Given the description of an element on the screen output the (x, y) to click on. 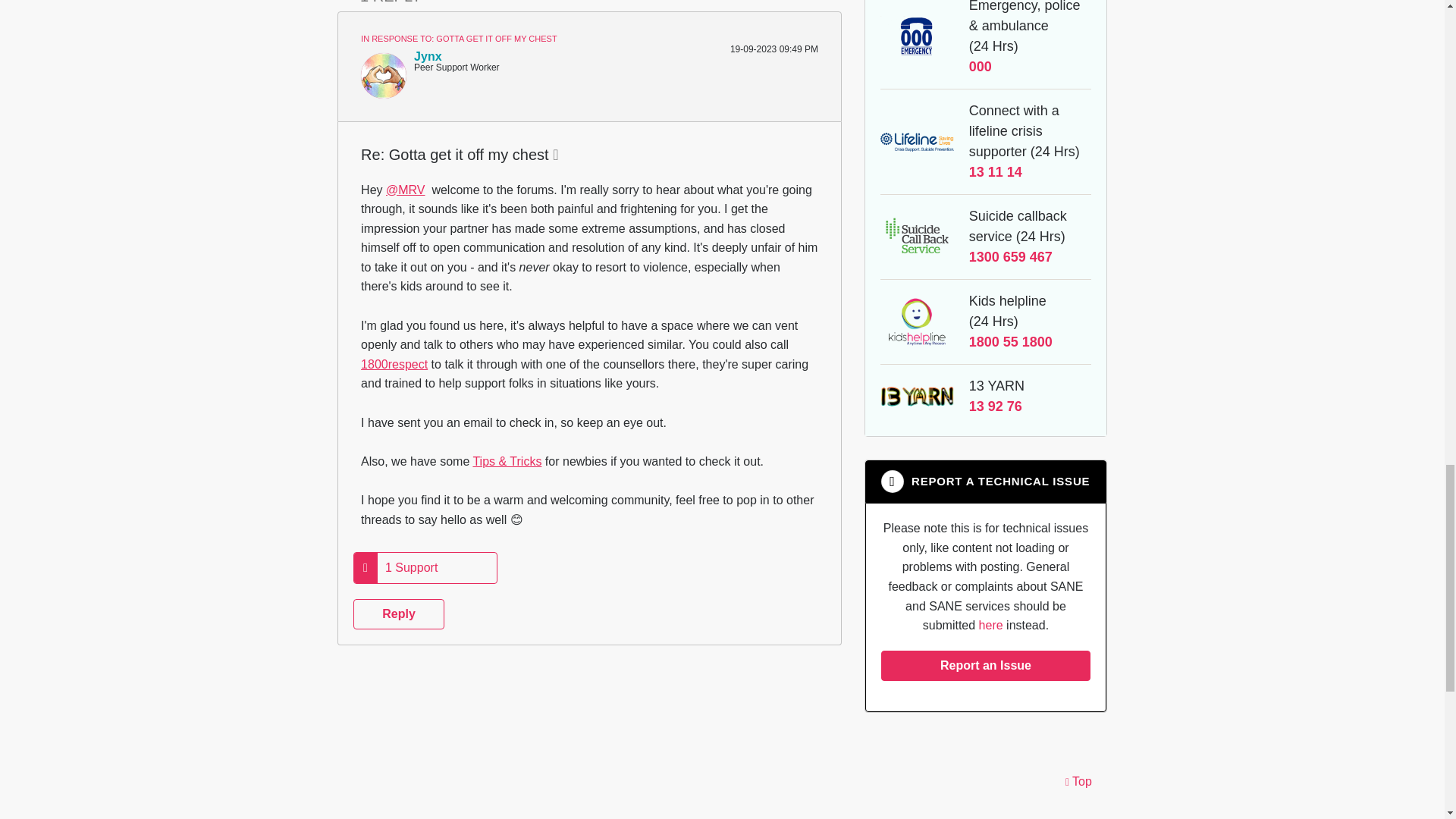
Top (1077, 782)
Posted on (703, 49)
Top (1077, 782)
Top (1077, 782)
Jynx (383, 75)
